Given the description of an element on the screen output the (x, y) to click on. 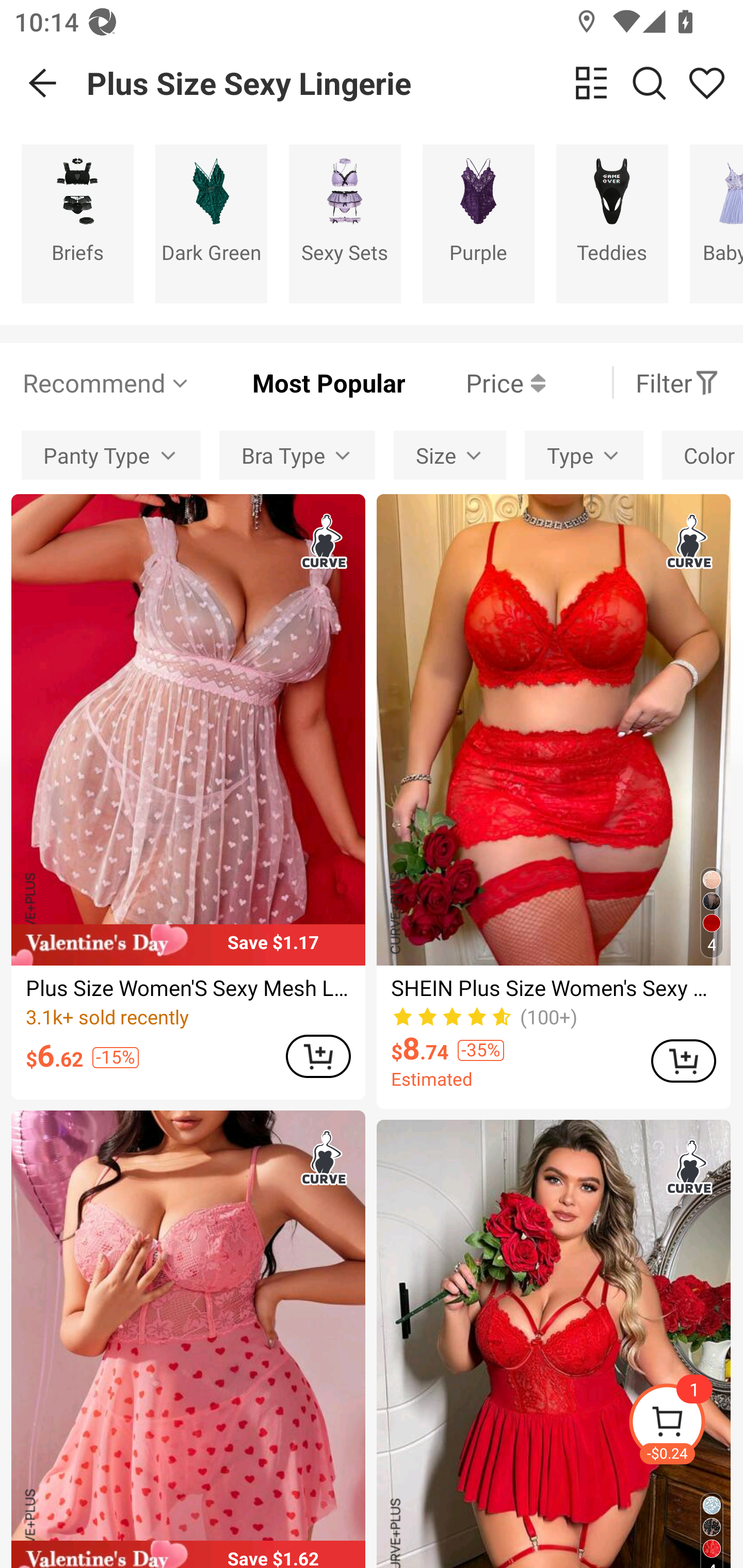
Plus Size Sexy Lingerie change view Search Share (414, 82)
change view (591, 82)
Search (648, 82)
Share (706, 82)
Briefs (77, 223)
Dark Green (211, 223)
Sexy Sets (345, 223)
Purple (478, 223)
Teddies (611, 223)
Recommend (106, 382)
Most Popular (297, 382)
Price (474, 382)
Filter (677, 382)
Panty Type (110, 455)
Bra Type (297, 455)
Size (449, 455)
Type (583, 455)
Color (702, 455)
ADD TO CART (318, 1056)
ADD TO CART (683, 1060)
-$0.24 (685, 1424)
